Given the description of an element on the screen output the (x, y) to click on. 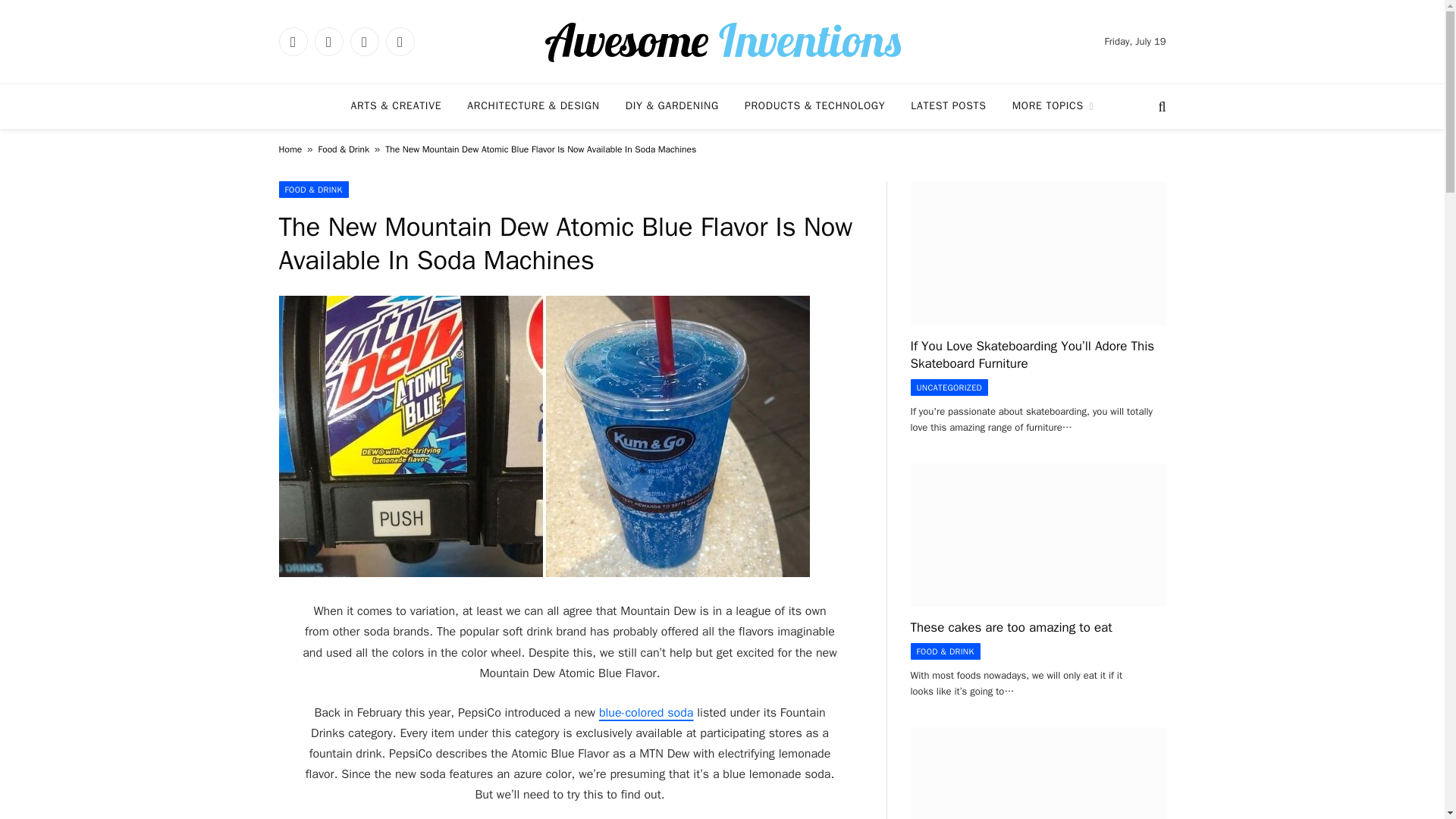
Instagram (364, 41)
Pinterest (399, 41)
blue-colored soda (646, 712)
LATEST POSTS (948, 106)
Search (1160, 106)
Awesome Inventions (721, 41)
Home (290, 149)
Latest Posts (948, 106)
Facebook (293, 41)
MORE TOPICS (1052, 106)
